Given the description of an element on the screen output the (x, y) to click on. 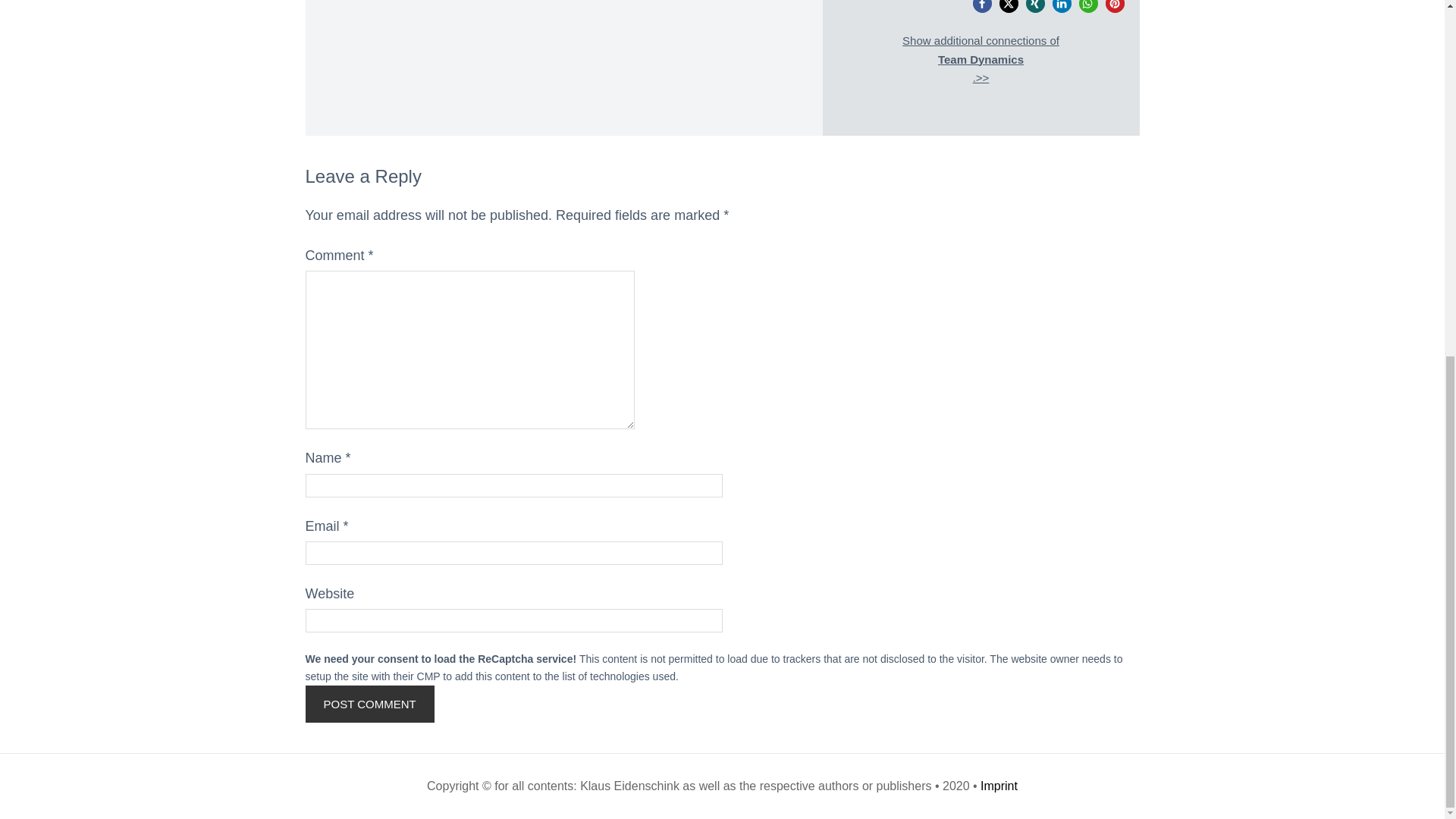
Share on Facebook (981, 6)
Imprint (998, 786)
Post Comment (368, 703)
Post Comment (368, 703)
